Given the description of an element on the screen output the (x, y) to click on. 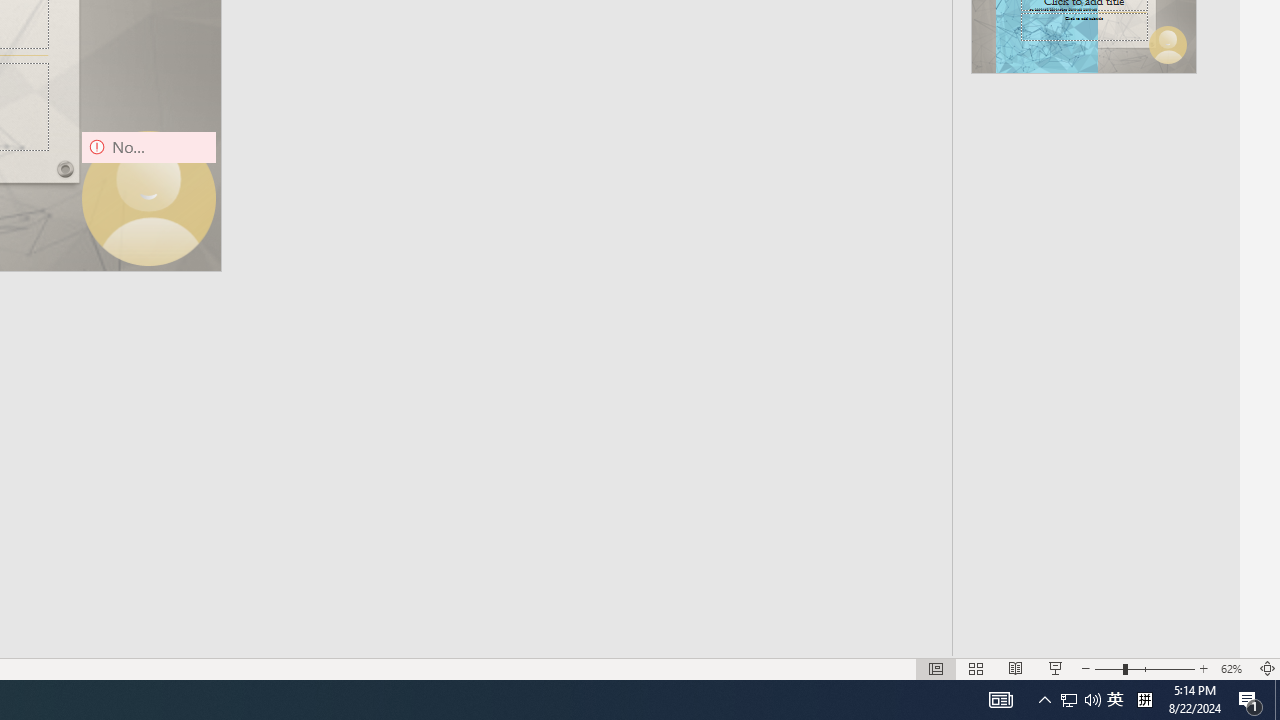
Close Panel (1230, 218)
Notifications (1232, 628)
LF (1097, 628)
Python (1161, 628)
More Actions... (1169, 487)
Views and More Actions... (1137, 218)
Clear Notification (Delete) (1215, 487)
Class: actions-container (1211, 218)
